Given the description of an element on the screen output the (x, y) to click on. 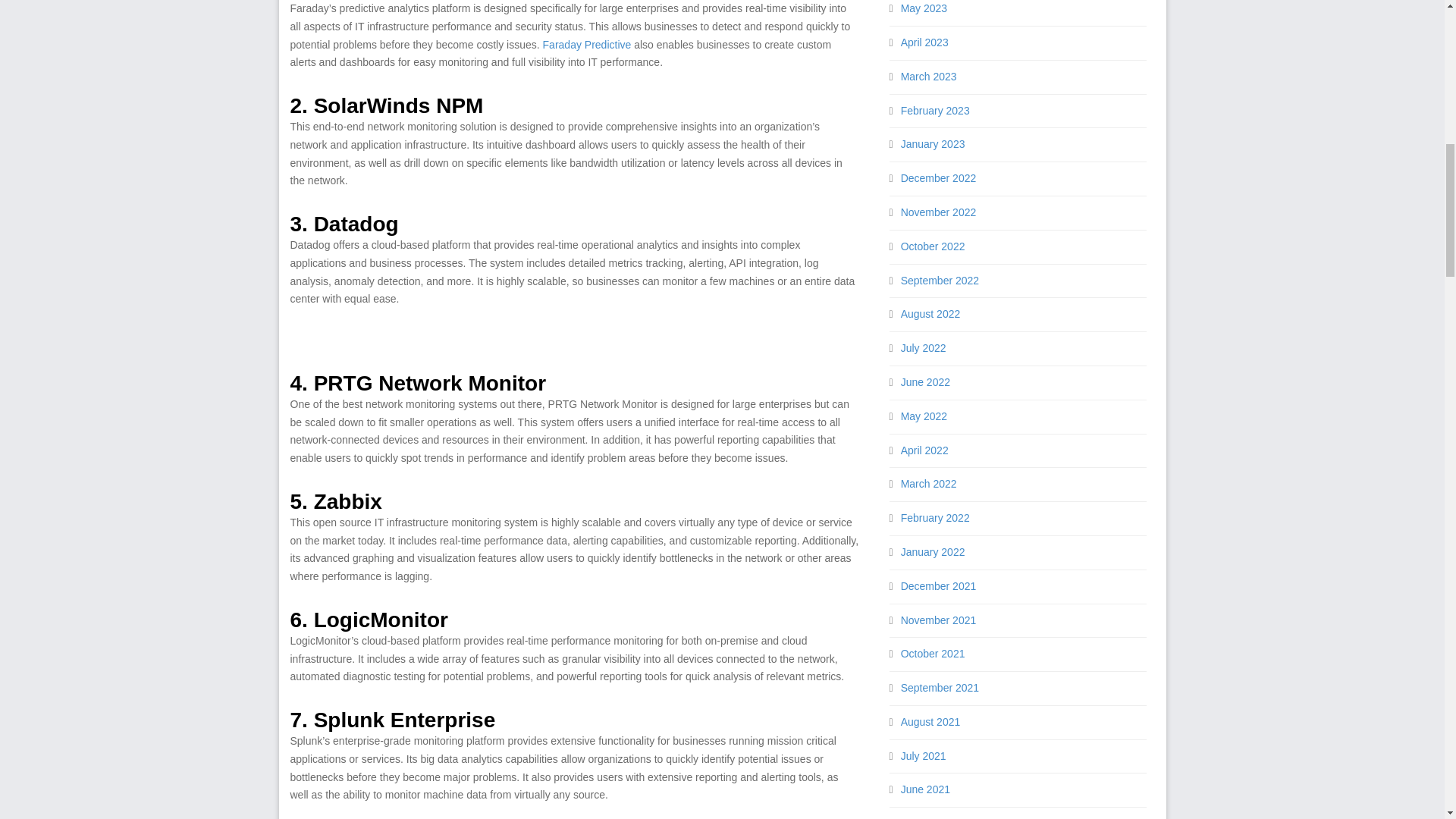
January 2023 (933, 143)
May 2023 (924, 8)
December 2022 (938, 177)
April 2023 (925, 42)
February 2023 (935, 110)
Faraday Predictive (587, 44)
November 2022 (938, 212)
March 2023 (928, 76)
September 2022 (940, 280)
October 2022 (933, 246)
